Given the description of an element on the screen output the (x, y) to click on. 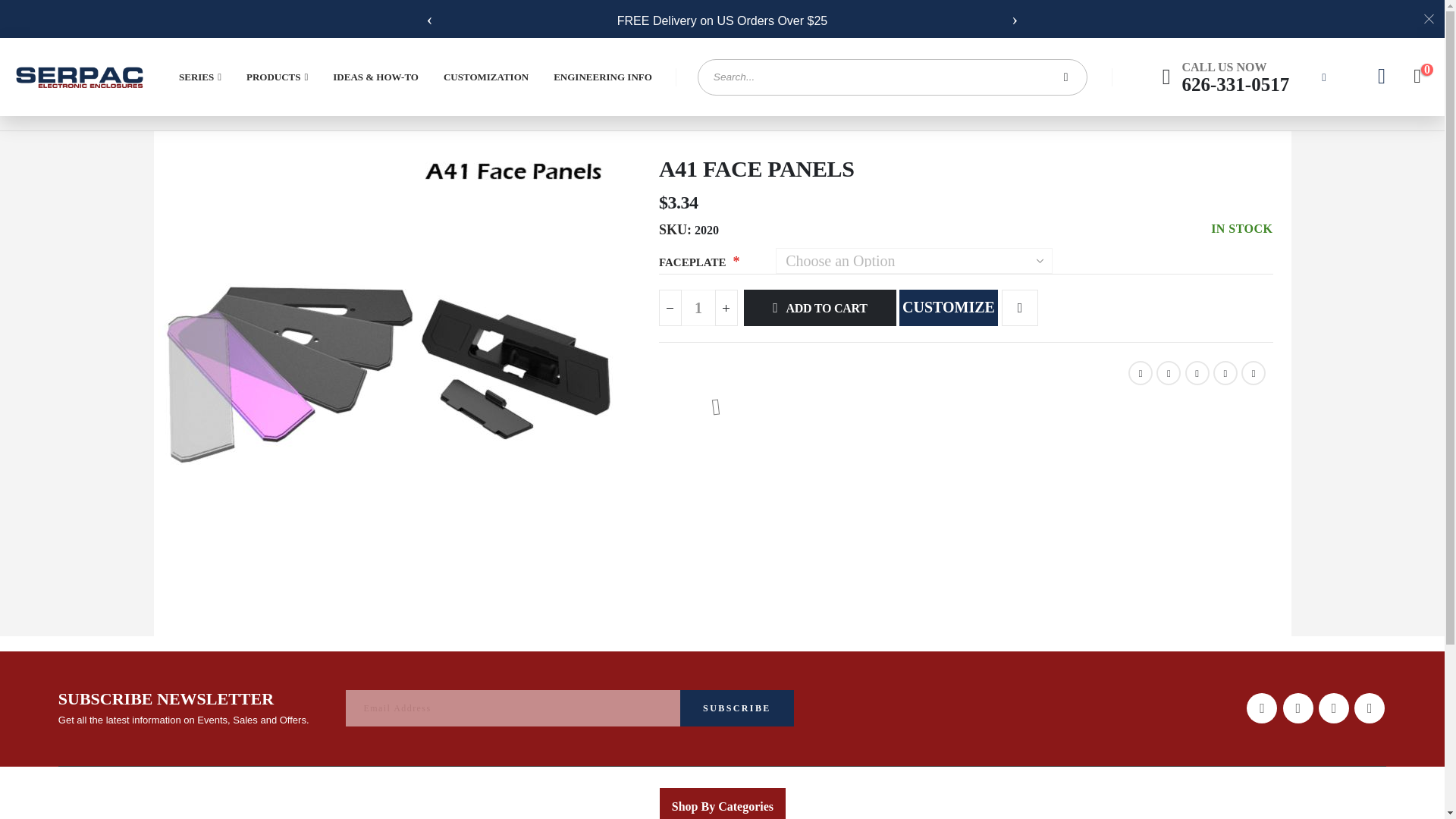
SERIES (199, 76)
Serpac - Electronic Enclosures (79, 76)
1 (697, 307)
Series (199, 76)
PRODUCTS (277, 76)
